Given the description of an element on the screen output the (x, y) to click on. 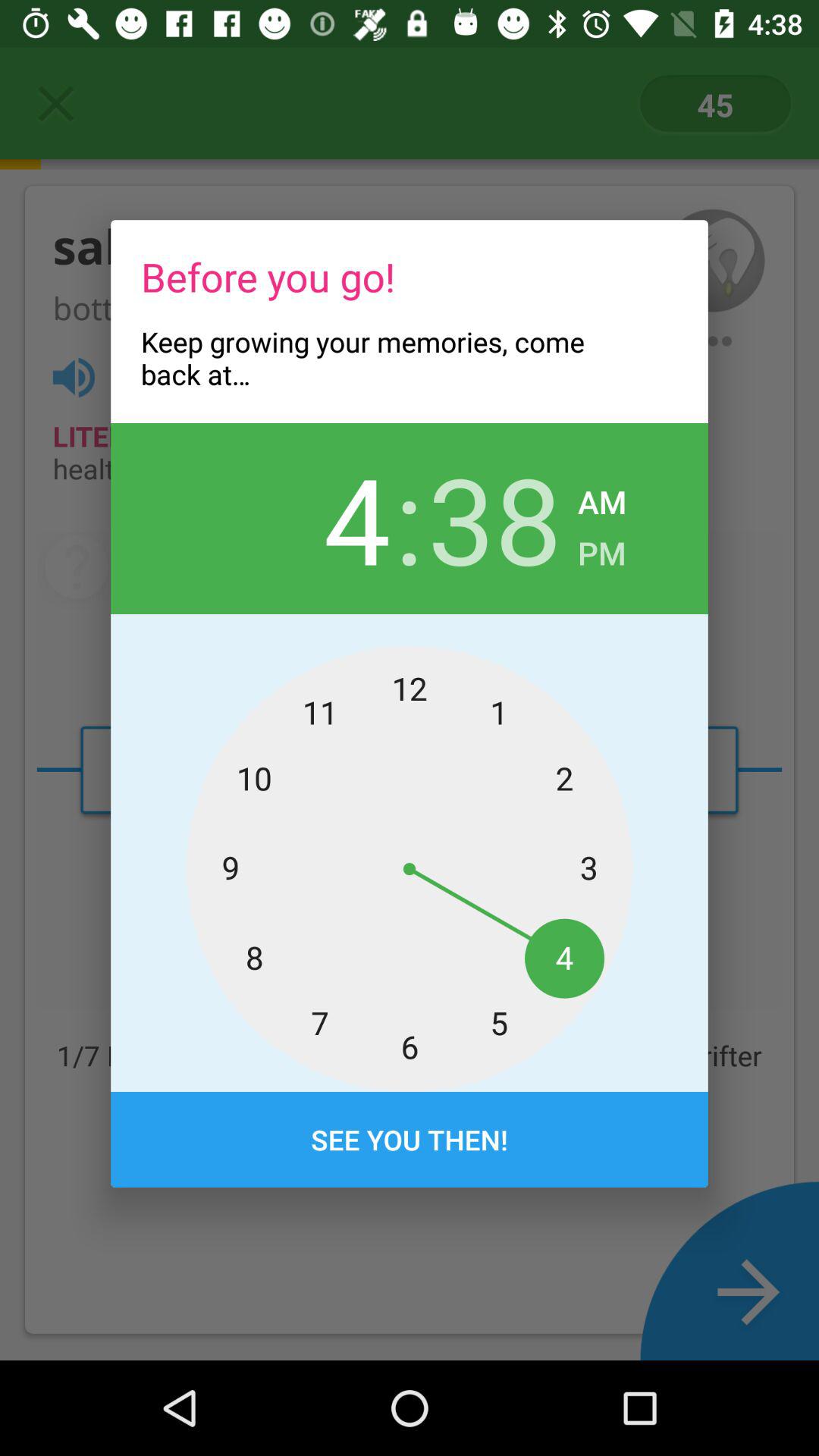
click icon below the am item (601, 548)
